Given the description of an element on the screen output the (x, y) to click on. 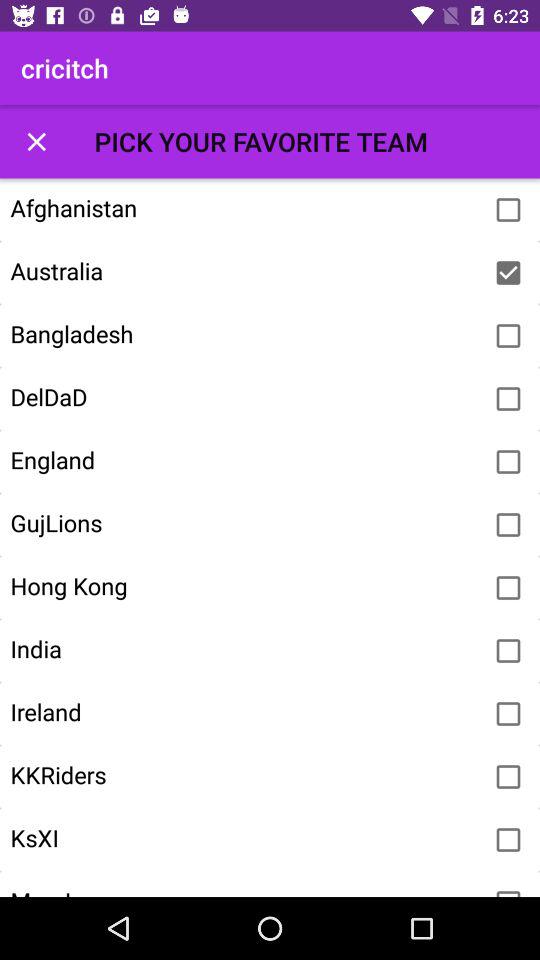
choose hong kong (508, 588)
